Given the description of an element on the screen output the (x, y) to click on. 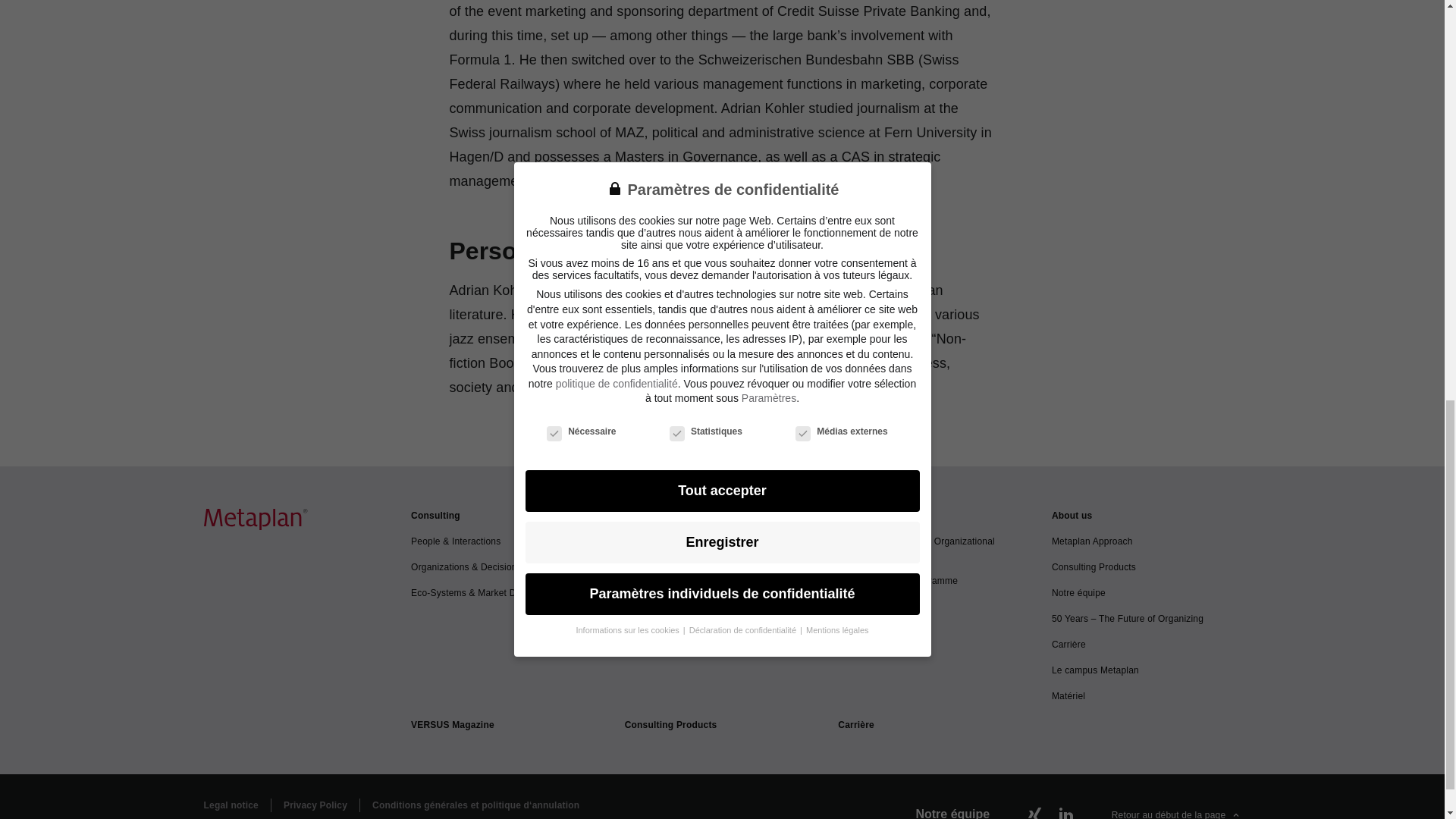
Xing (1034, 812)
LinkedIn (1065, 812)
